Given the description of an element on the screen output the (x, y) to click on. 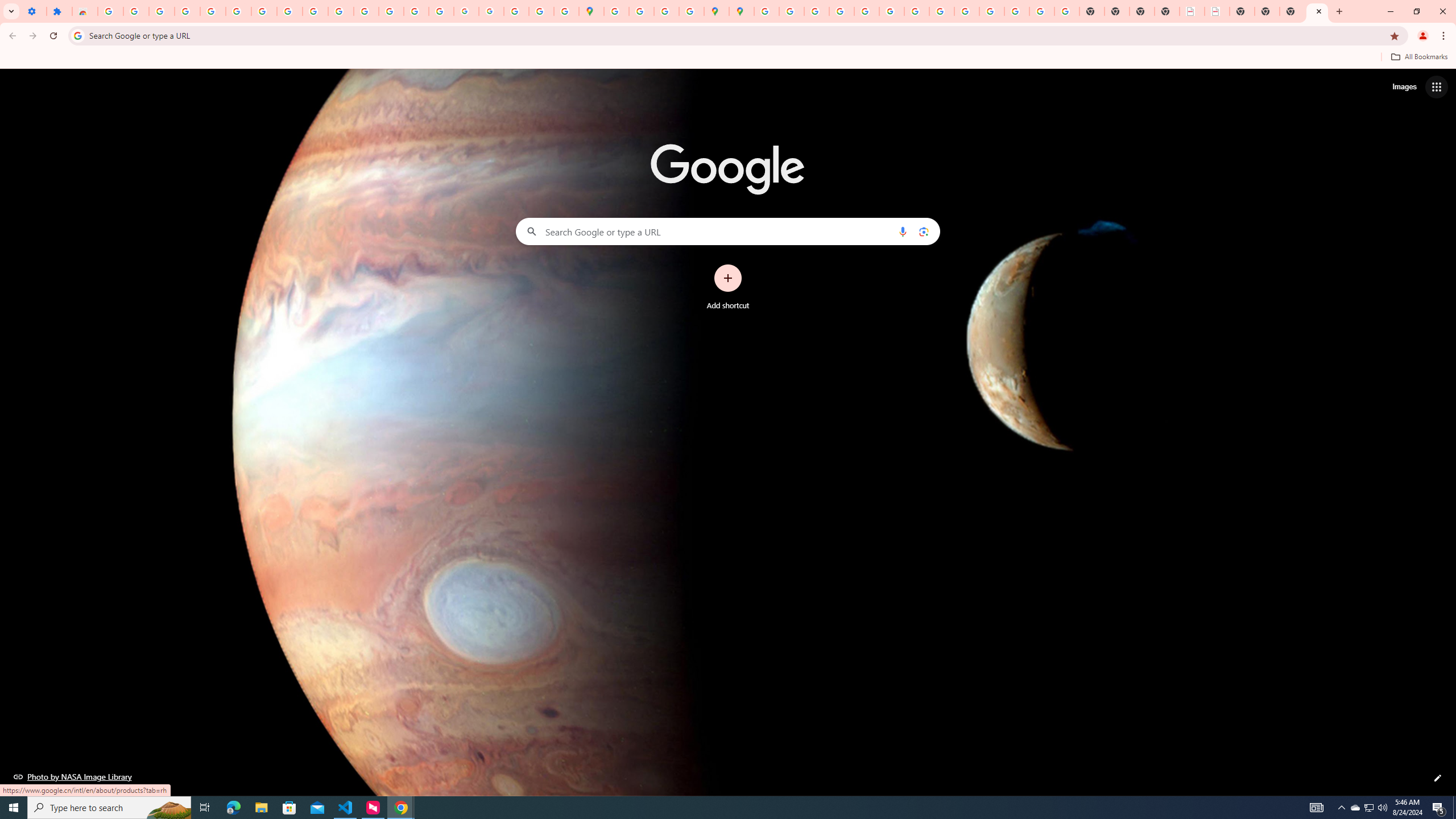
Customize this page (1437, 778)
Search Google or type a URL (727, 230)
YouTube (916, 11)
New Tab (1166, 11)
Settings - On startup (34, 11)
